Given the description of an element on the screen output the (x, y) to click on. 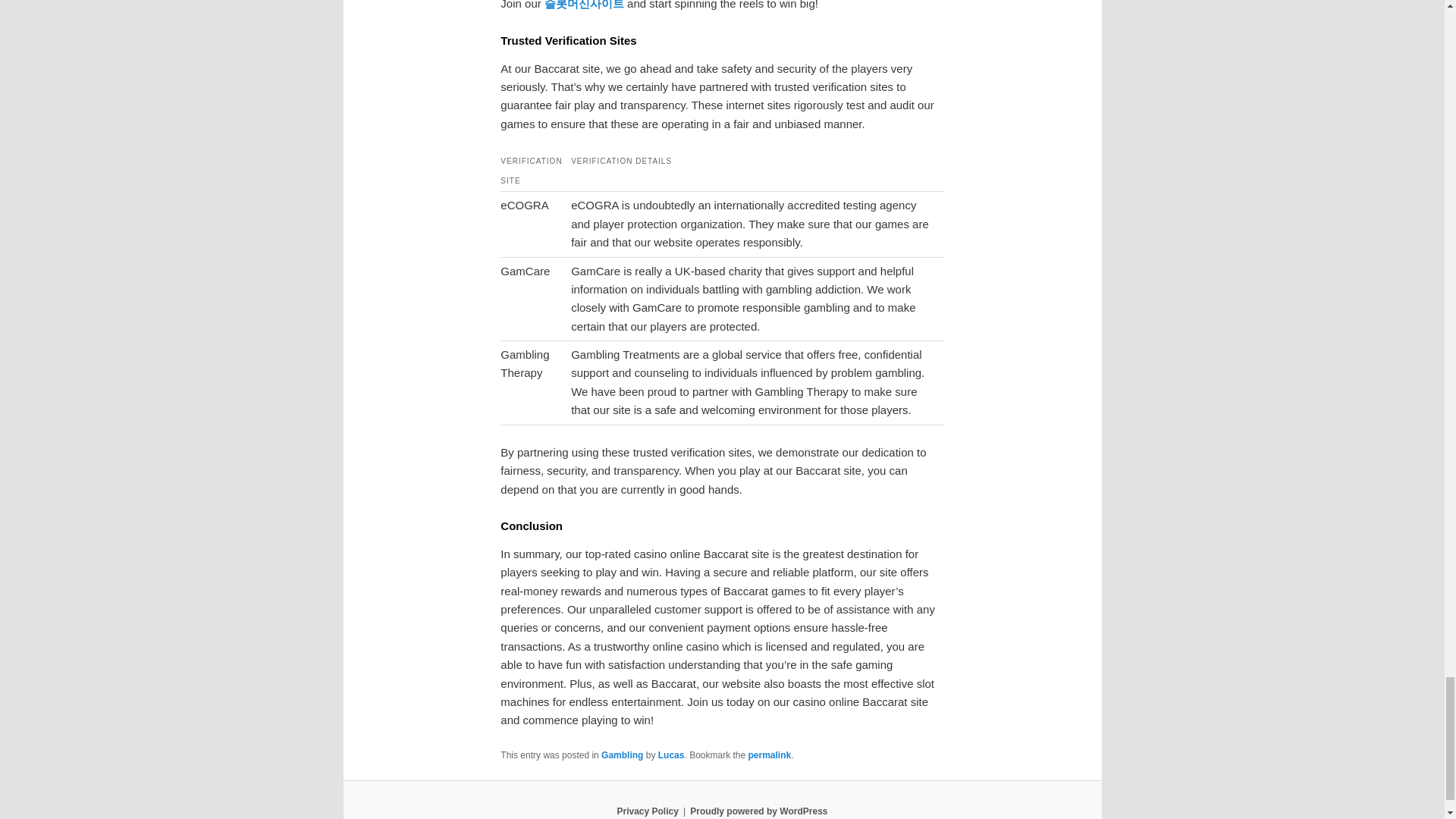
Semantic Personal Publishing Platform (758, 810)
Gambling (622, 755)
Privacy Policy (646, 810)
Permalink to Jackpot Haven: Slot machine site (770, 755)
permalink (770, 755)
Proudly powered by WordPress (758, 810)
Lucas (671, 755)
